Given the description of an element on the screen output the (x, y) to click on. 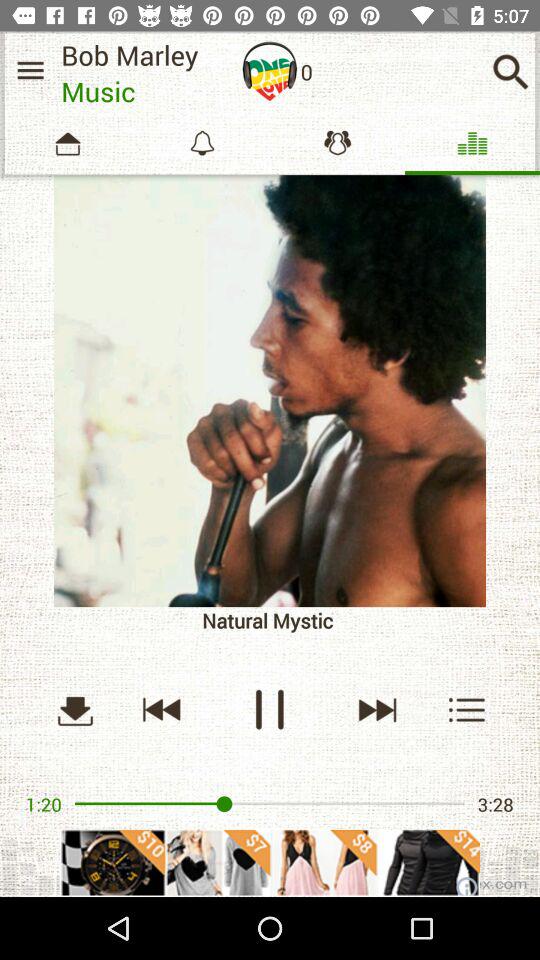
search the songs (510, 71)
